Given the description of an element on the screen output the (x, y) to click on. 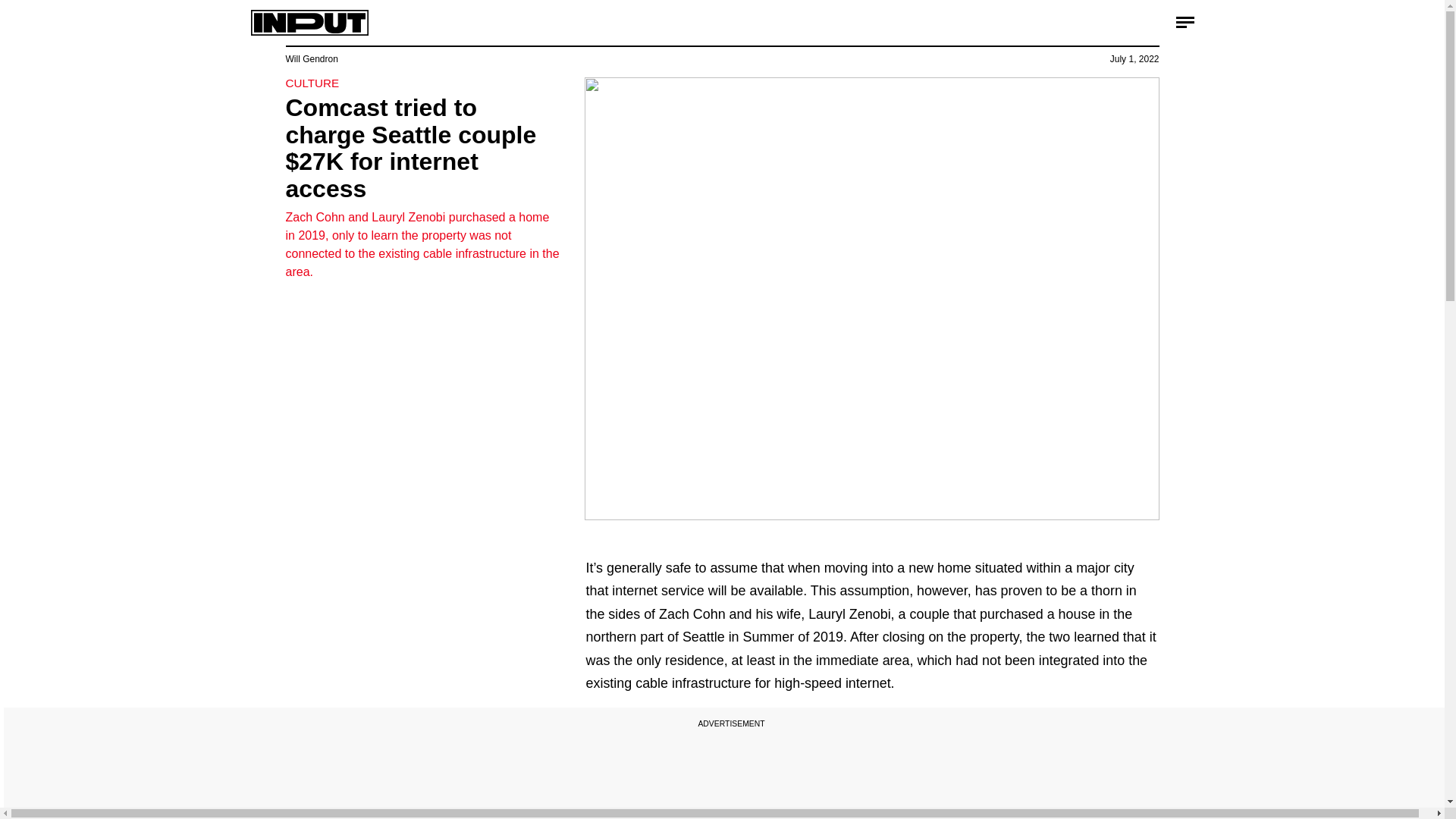
Input (309, 22)
